Given the description of an element on the screen output the (x, y) to click on. 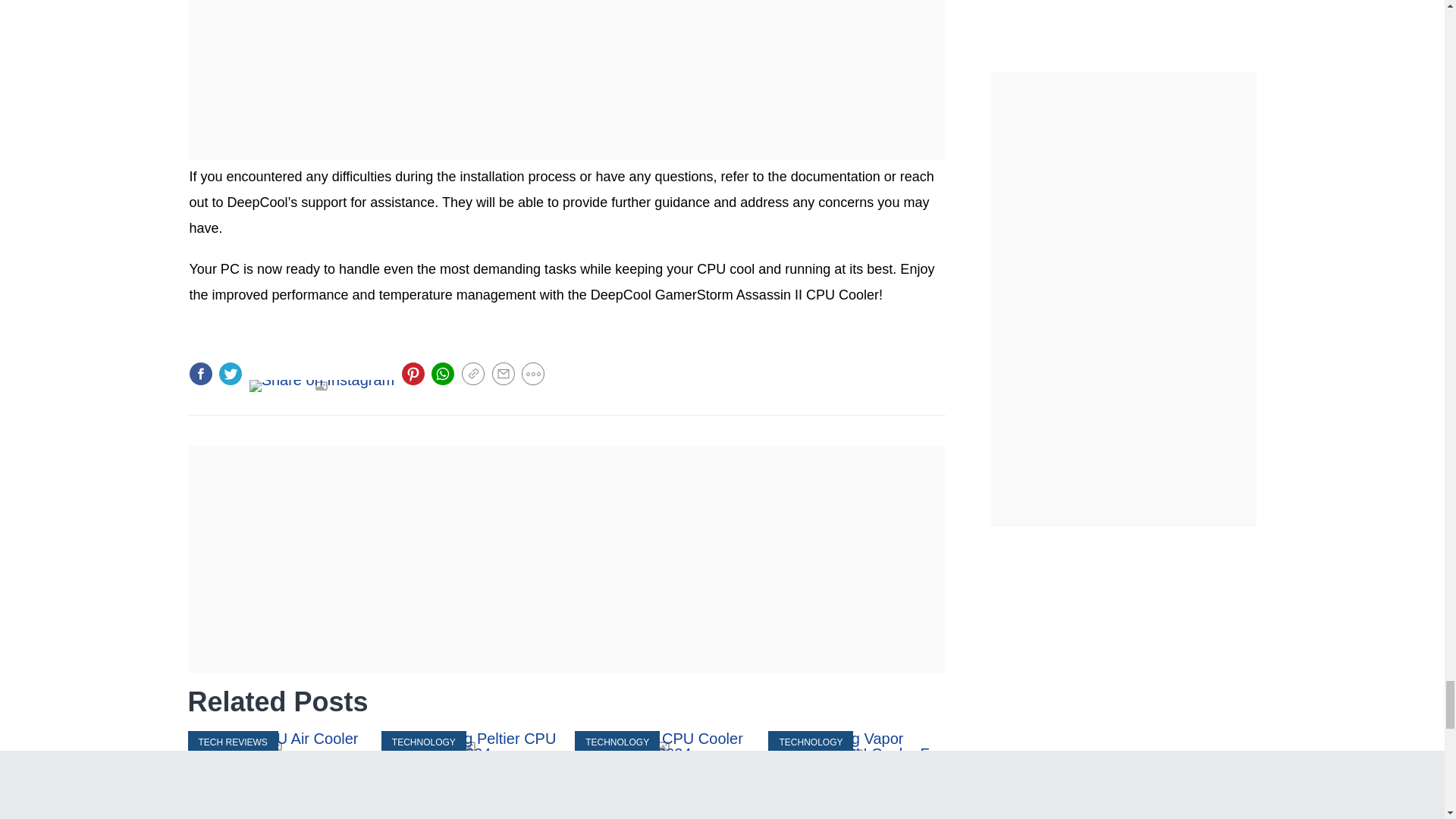
Share on facebook (200, 373)
